Given the description of an element on the screen output the (x, y) to click on. 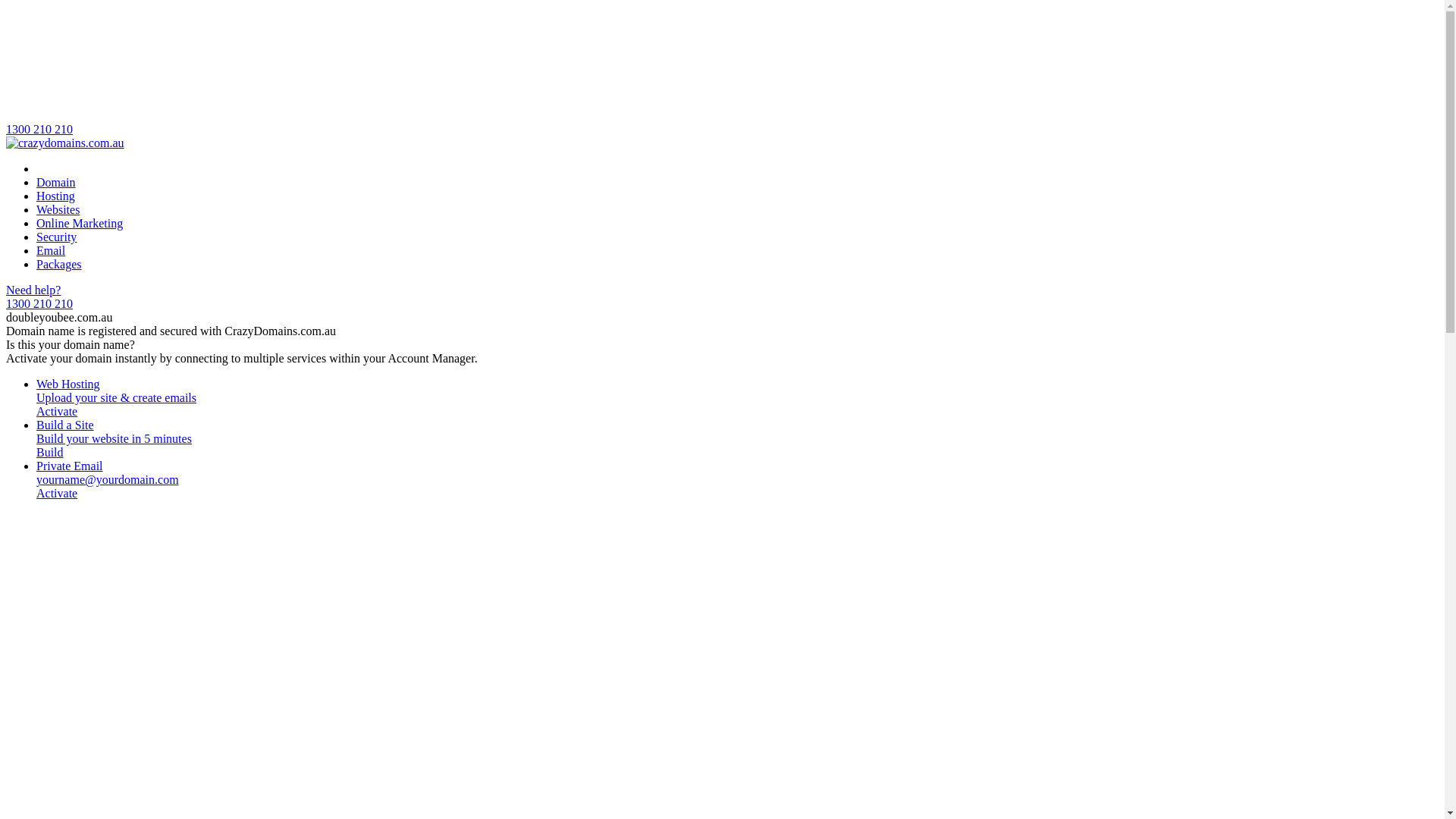
Packages Element type: text (58, 263)
Security Element type: text (56, 236)
Need help?
1300 210 210 Element type: text (722, 296)
1300 210 210 Element type: text (722, 70)
Online Marketing Element type: text (79, 222)
Web Hosting
Upload your site & create emails
Activate Element type: text (737, 397)
Websites Element type: text (57, 209)
Email Element type: text (50, 250)
Private Email
yourname@yourdomain.com
Activate Element type: text (737, 479)
Build a Site
Build your website in 5 minutes
Build Element type: text (737, 438)
Hosting Element type: text (55, 195)
Domain Element type: text (55, 181)
